Given the description of an element on the screen output the (x, y) to click on. 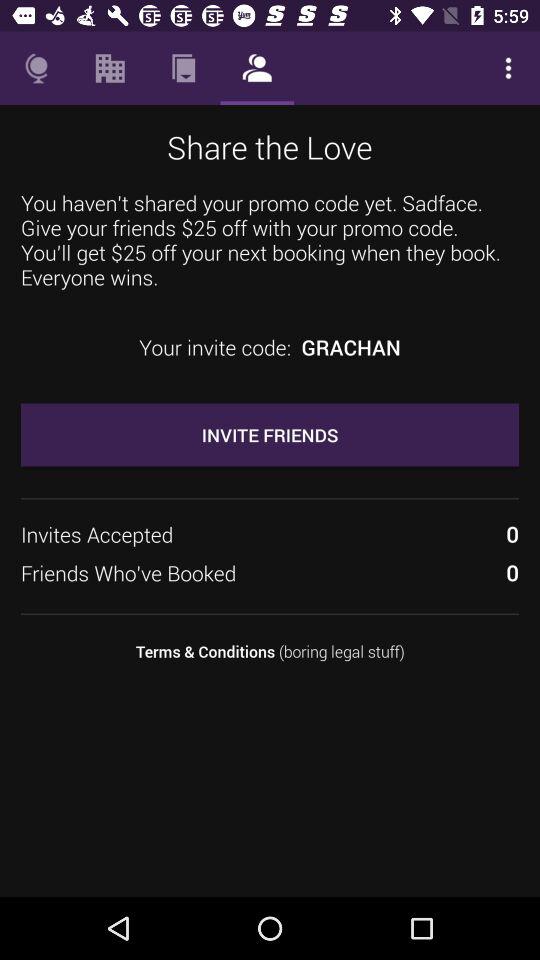
turn off the icon above the share the love item (183, 68)
